Given the description of an element on the screen output the (x, y) to click on. 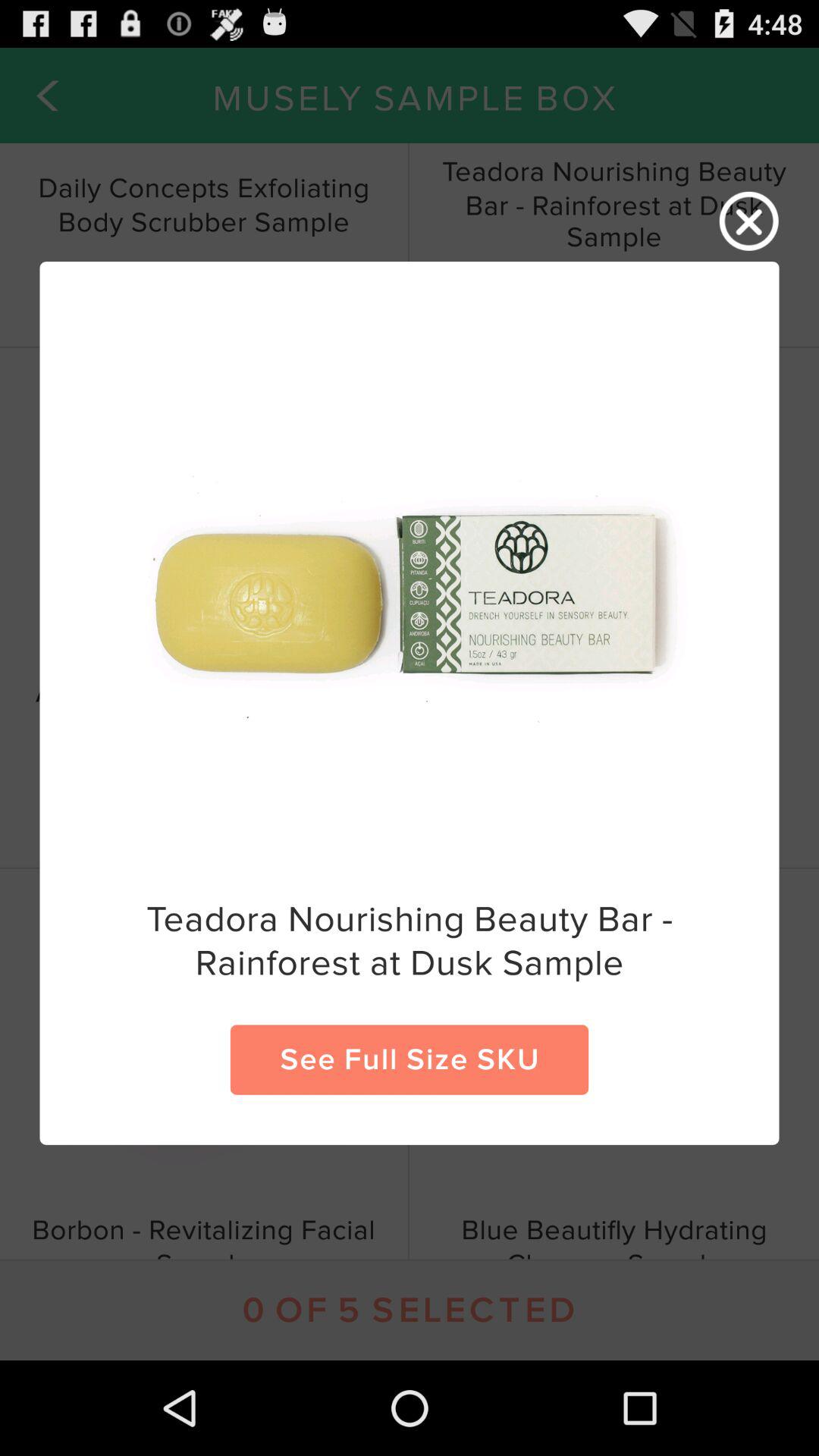
close (749, 221)
